Given the description of an element on the screen output the (x, y) to click on. 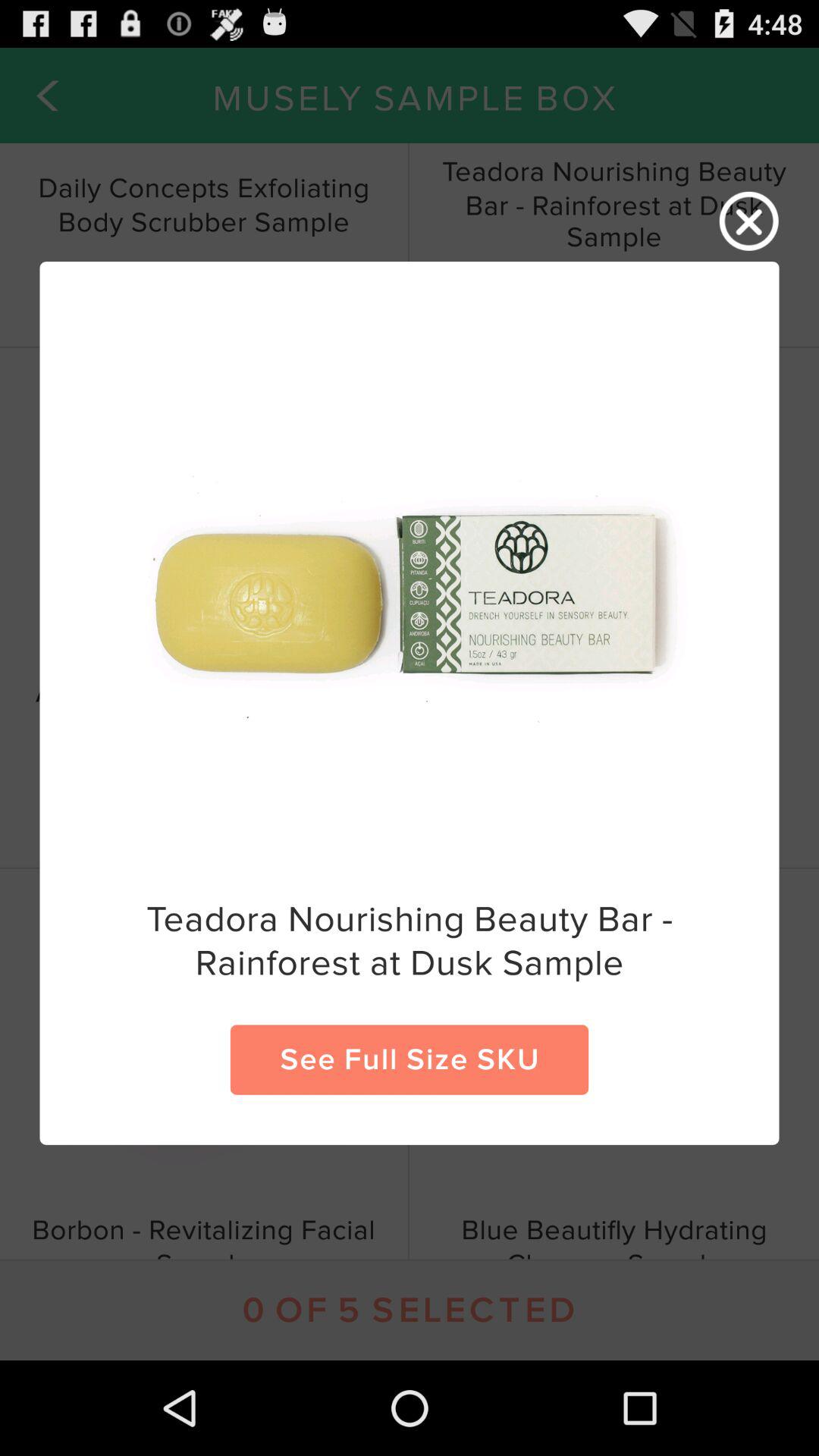
close (749, 221)
